Given the description of an element on the screen output the (x, y) to click on. 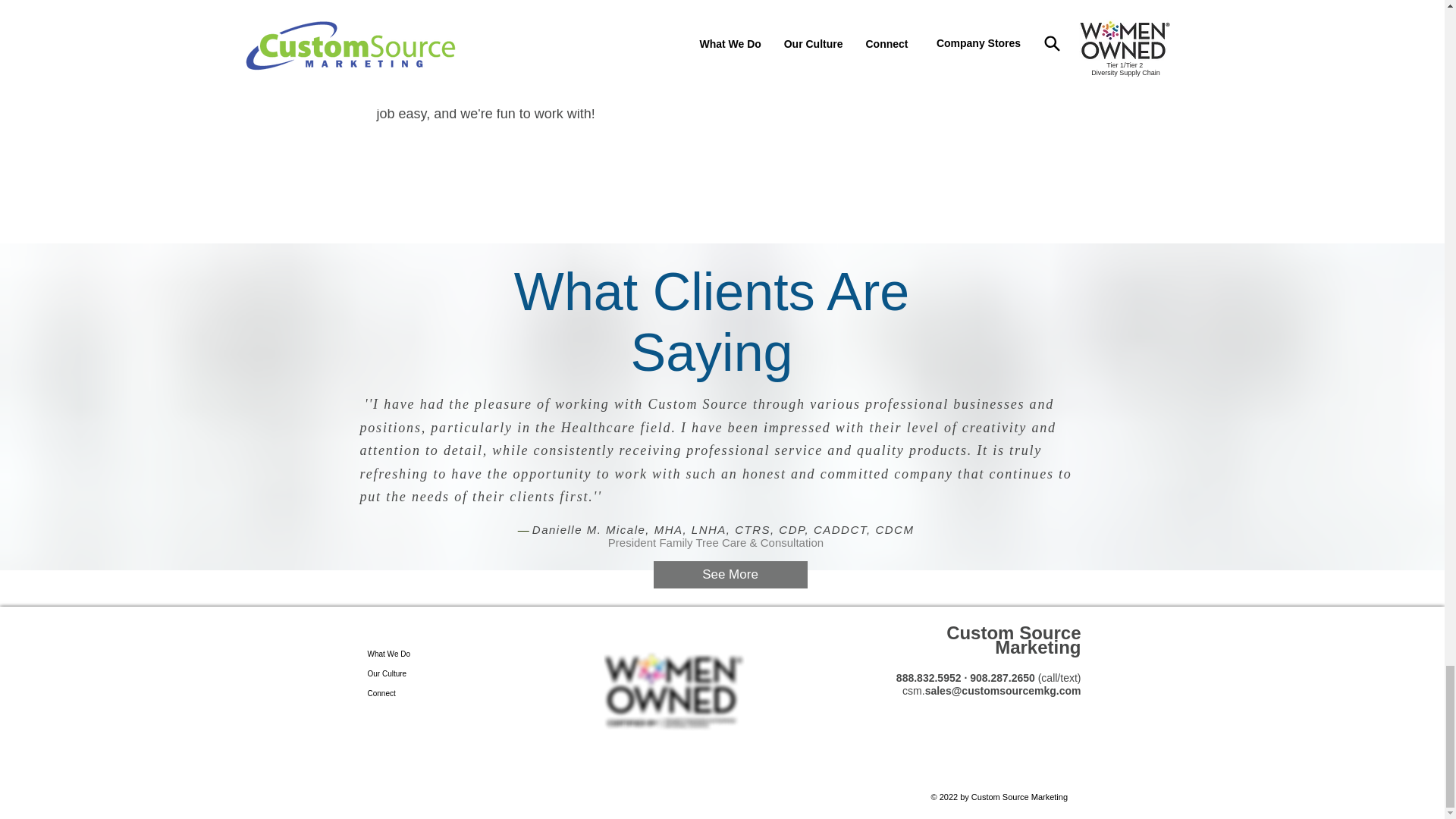
What We Do (404, 654)
See More (730, 574)
Our Culture (404, 673)
